Given the description of an element on the screen output the (x, y) to click on. 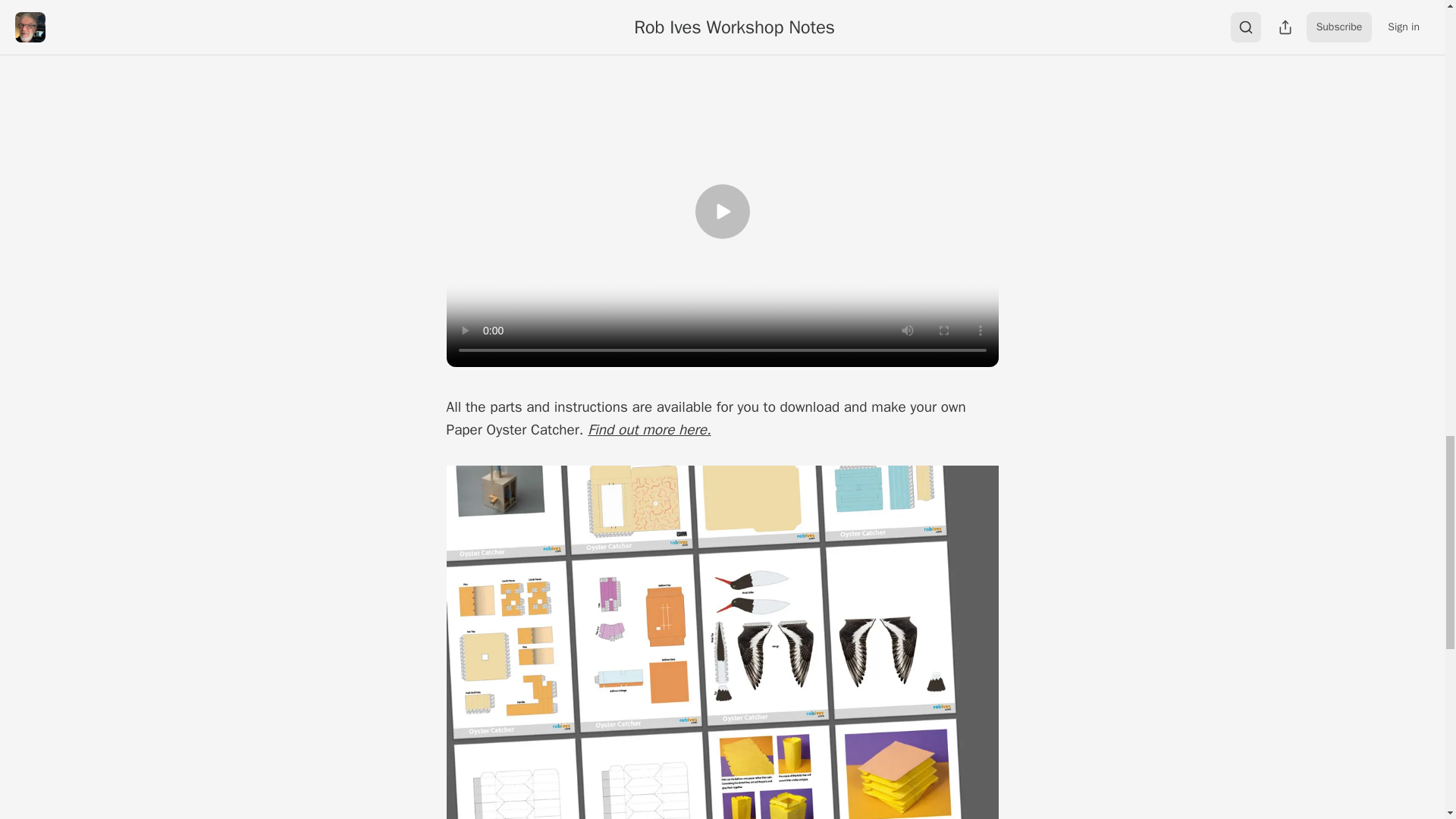
Find out more here. (649, 429)
